Given the description of an element on the screen output the (x, y) to click on. 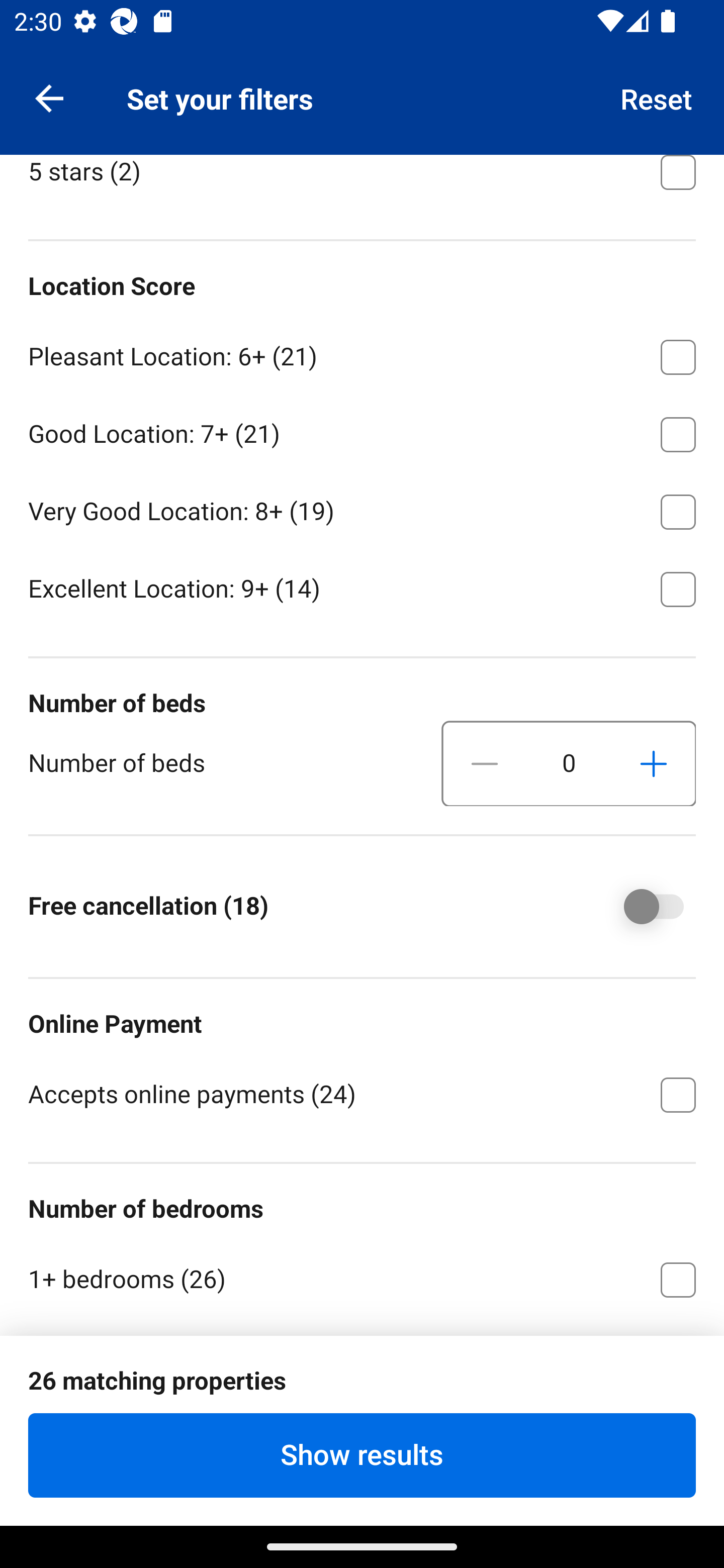
Navigate up (49, 97)
4 stars ⁦(13) (361, 91)
Reset (656, 97)
5 stars ⁦(2) (361, 183)
Pleasant Location: 6+ ⁦(21) (361, 353)
Good Location: 7+ ⁦(21) (361, 431)
Very Good Location: 8+ ⁦(19) (361, 508)
Excellent Location: 9+ ⁦(14) (361, 587)
Decrease (484, 763)
Increase (653, 763)
Free cancellation ⁦(18) (639, 905)
Accepts online payments ⁦(24) (361, 1092)
1+ bedrooms ⁦(26) (361, 1276)
Show results (361, 1454)
